Given the description of an element on the screen output the (x, y) to click on. 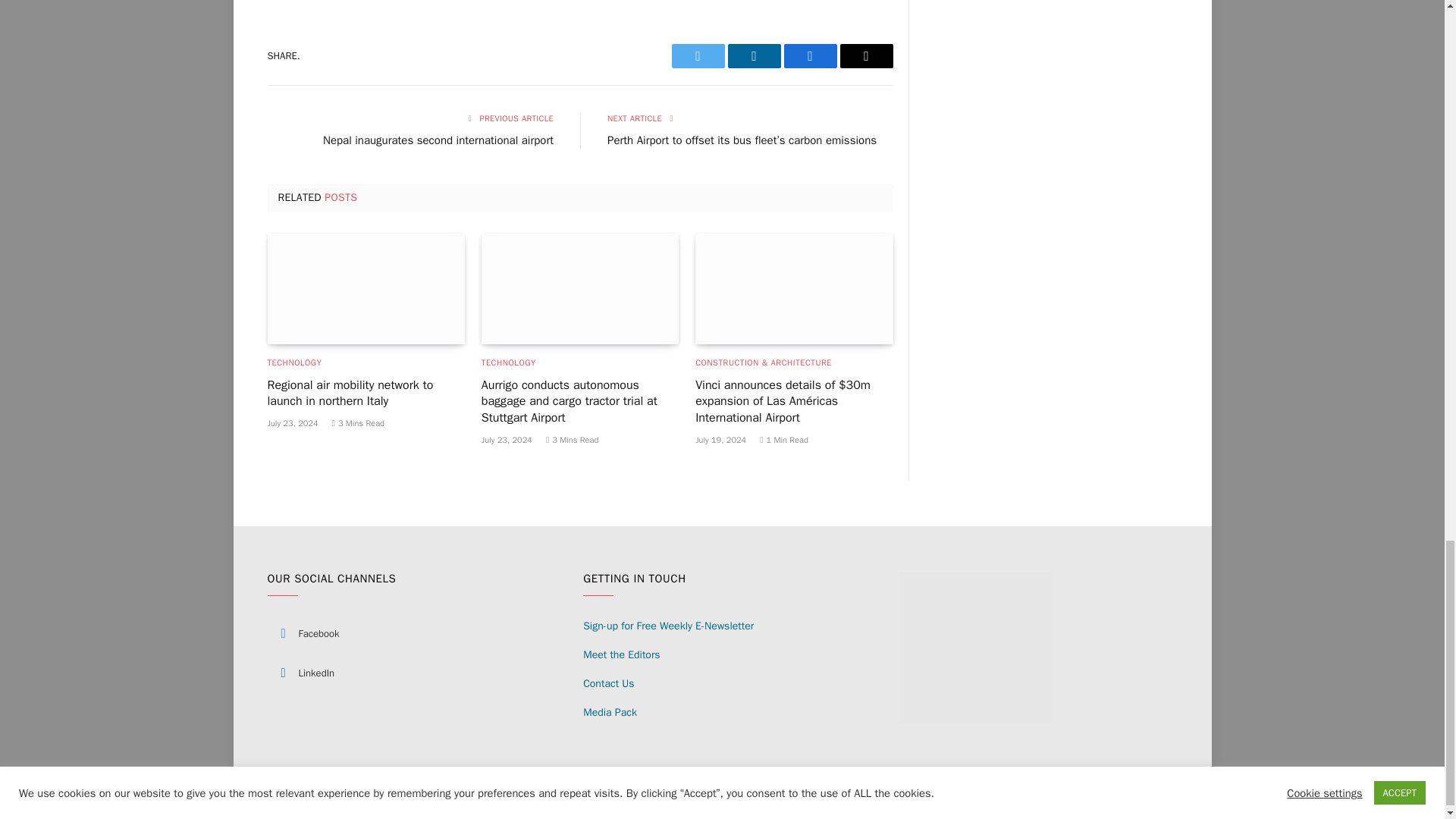
Share on LinkedIn (754, 55)
Regional air mobility network to launch in northern Italy (365, 288)
Share via Email (866, 55)
Share on Facebook (810, 55)
